Given the description of an element on the screen output the (x, y) to click on. 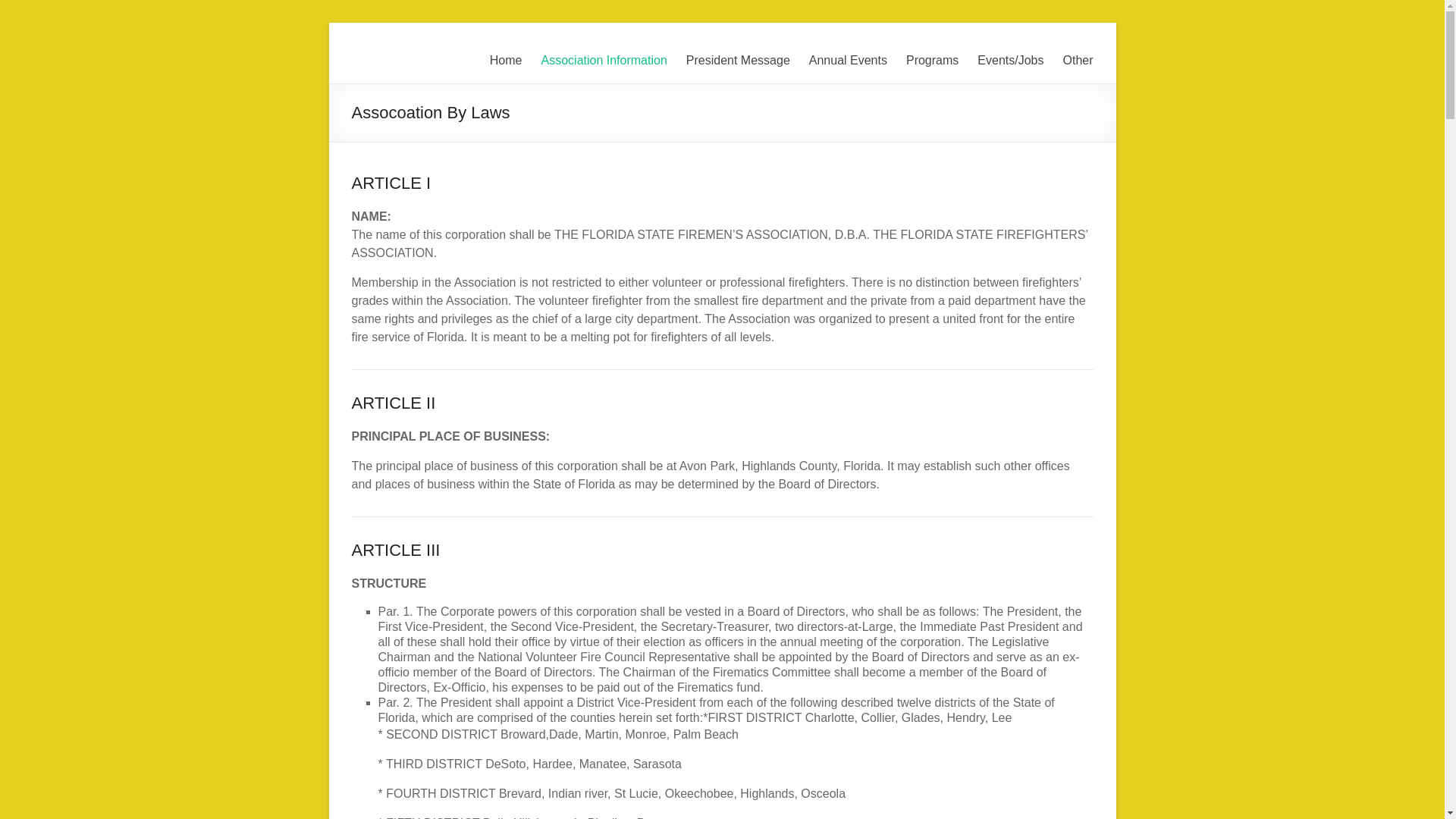
FSFA (384, 53)
Other (1077, 60)
Programs (931, 60)
Annual Events (847, 60)
FSFA (384, 53)
President Message (737, 60)
Home (505, 60)
Association Information (603, 60)
